Given the description of an element on the screen output the (x, y) to click on. 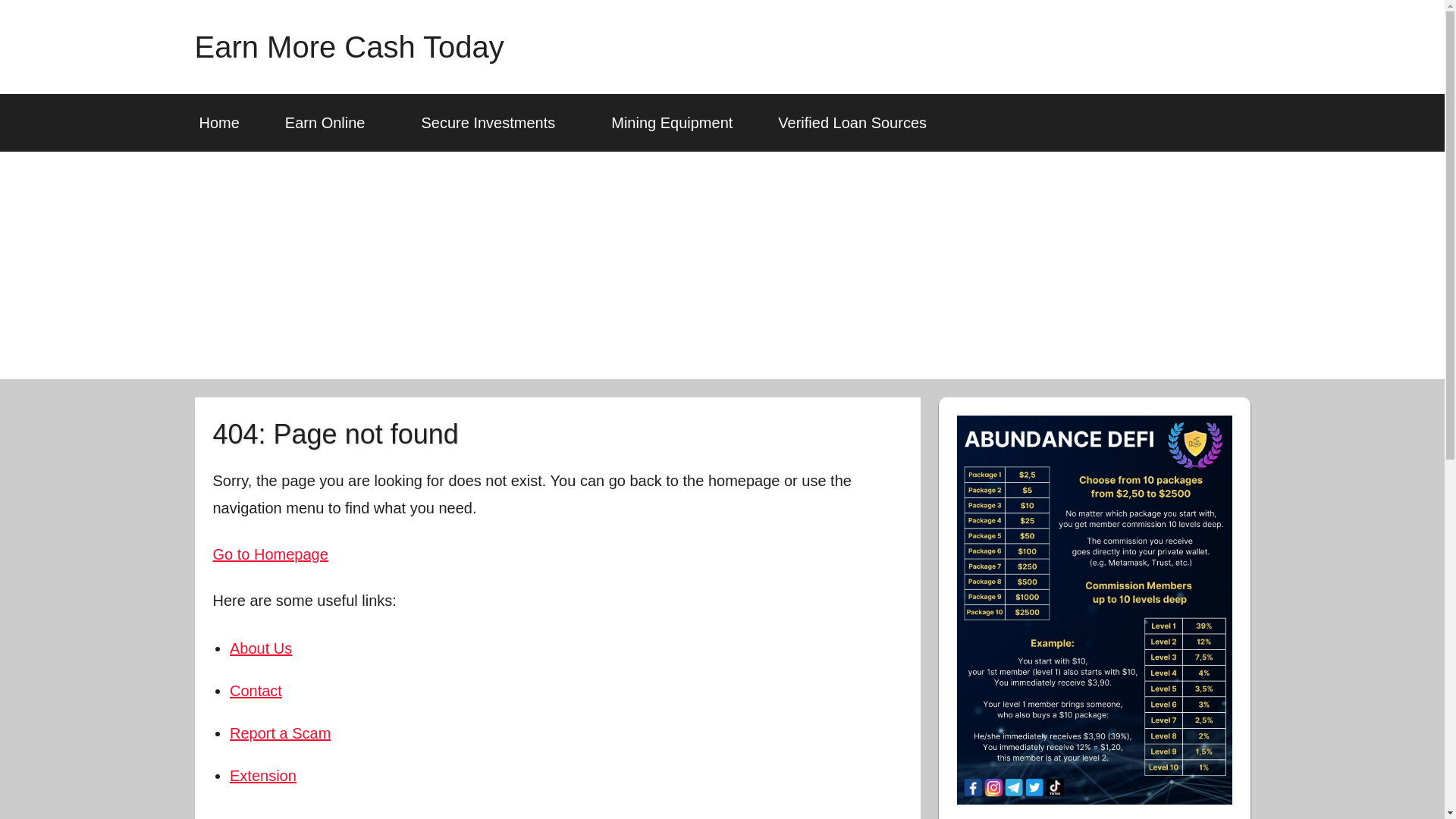
Home (219, 122)
Contact (256, 690)
Verified Loan Sources (852, 122)
Mining Equipment (671, 122)
Earn More Cash Today (348, 46)
Secure Investments (492, 122)
About Us (261, 647)
Earn Online (330, 122)
Extension (263, 775)
